Given the description of an element on the screen output the (x, y) to click on. 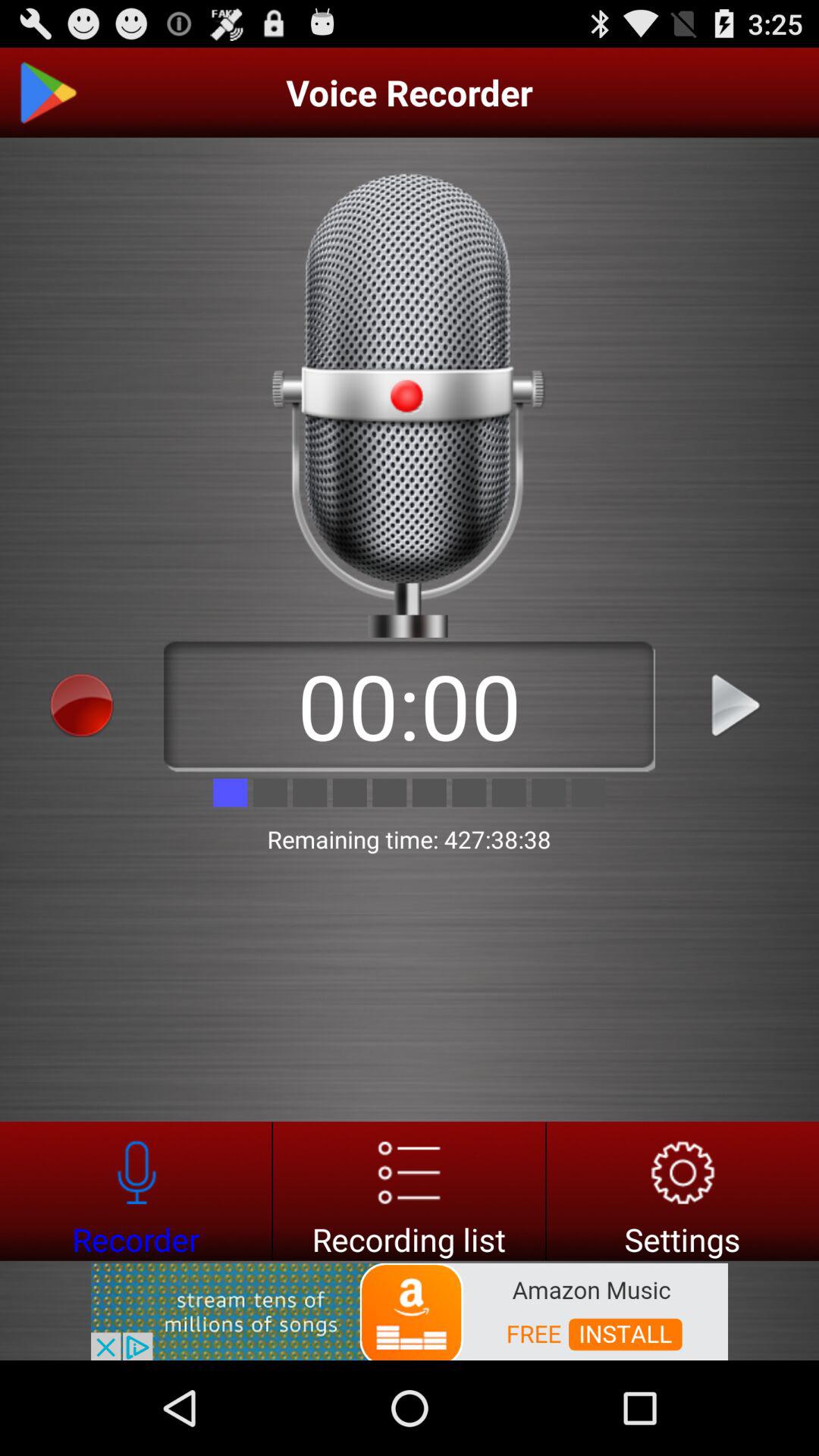
settings button (682, 1190)
